Given the description of an element on the screen output the (x, y) to click on. 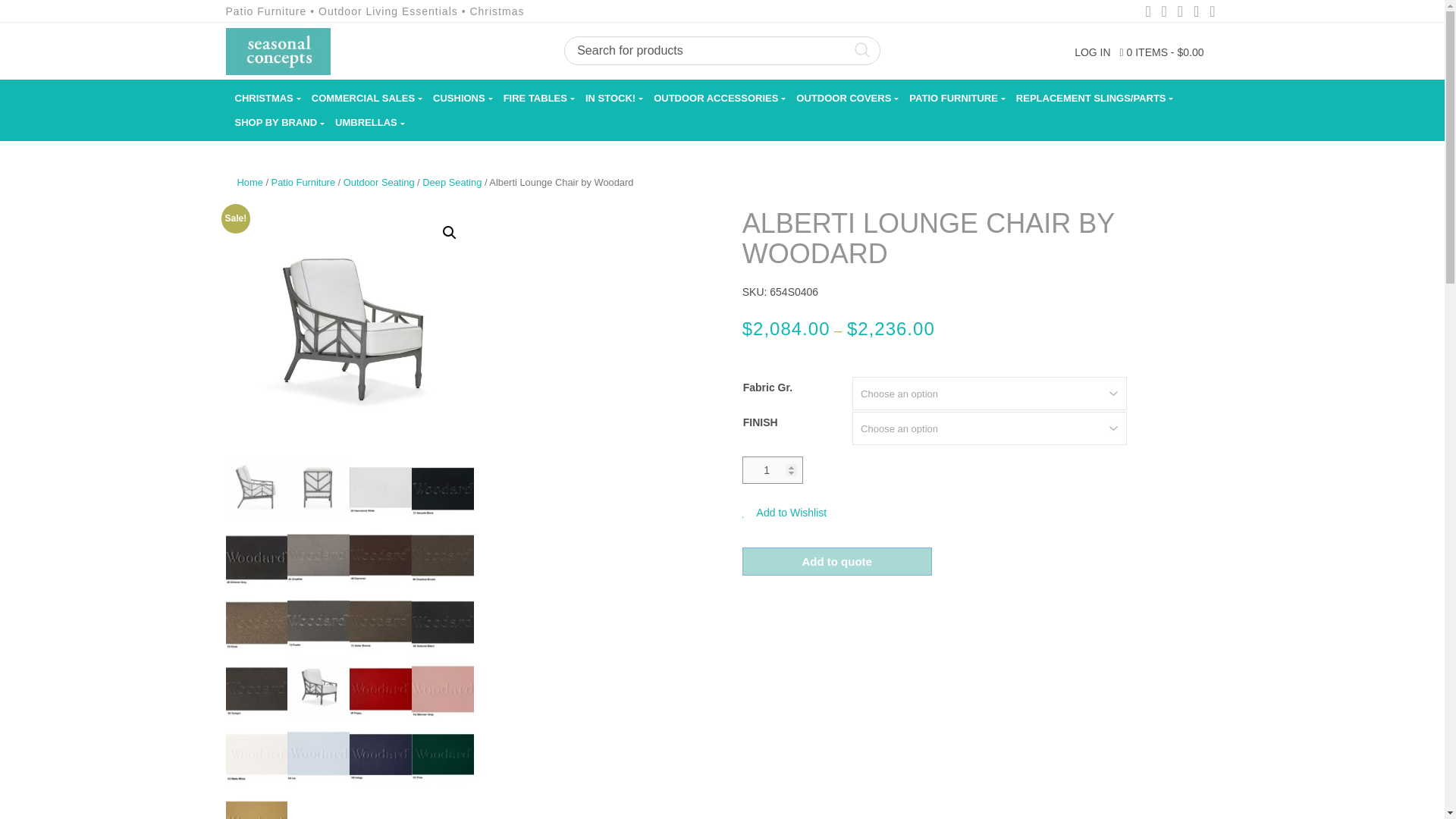
Twitter (1163, 12)
1 (772, 470)
Pinterest (1179, 12)
Facebook (1147, 12)
Start shopping (1161, 52)
Instagram (1195, 12)
LOG IN (1091, 52)
COMMERCIAL SALES (362, 97)
product-1031780-1720942583-654S0406 (349, 332)
Houzz (1211, 12)
CHRISTMAS (263, 97)
